Given the description of an element on the screen output the (x, y) to click on. 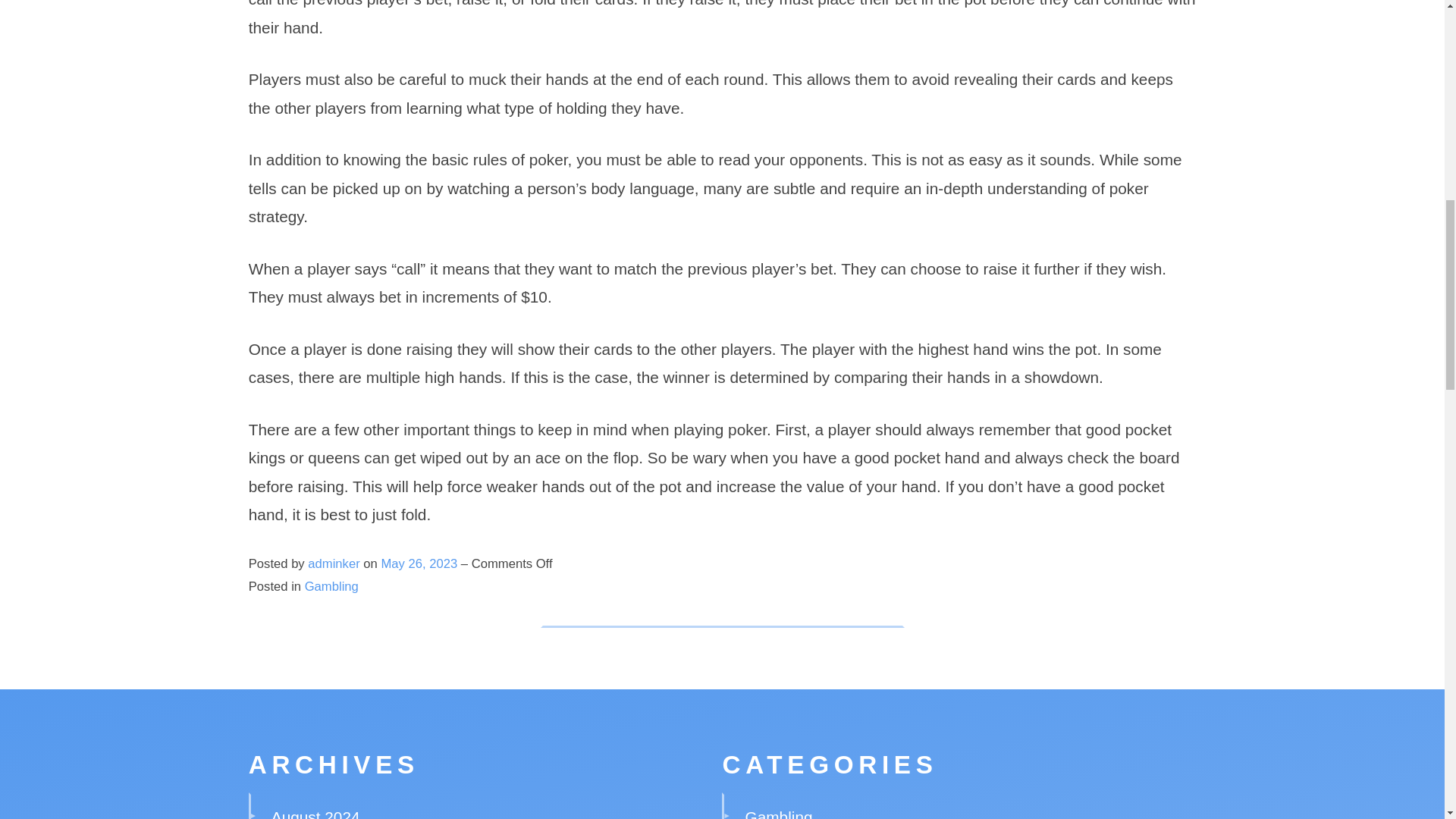
August 2024 (314, 813)
May 26, 2023 (420, 563)
Gambling (331, 586)
adminker (333, 563)
